Given the description of an element on the screen output the (x, y) to click on. 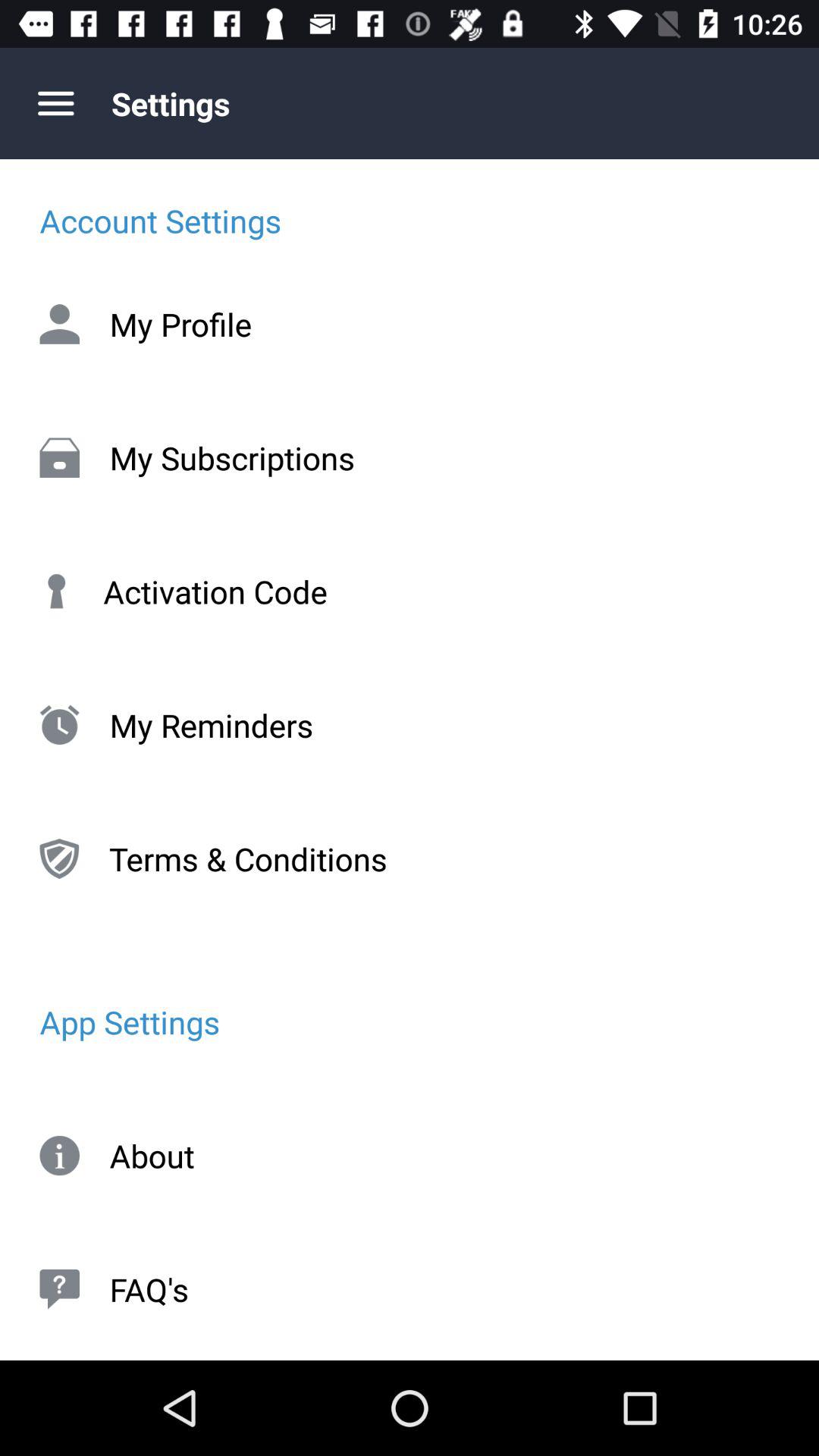
choose the my profile (409, 323)
